Given the description of an element on the screen output the (x, y) to click on. 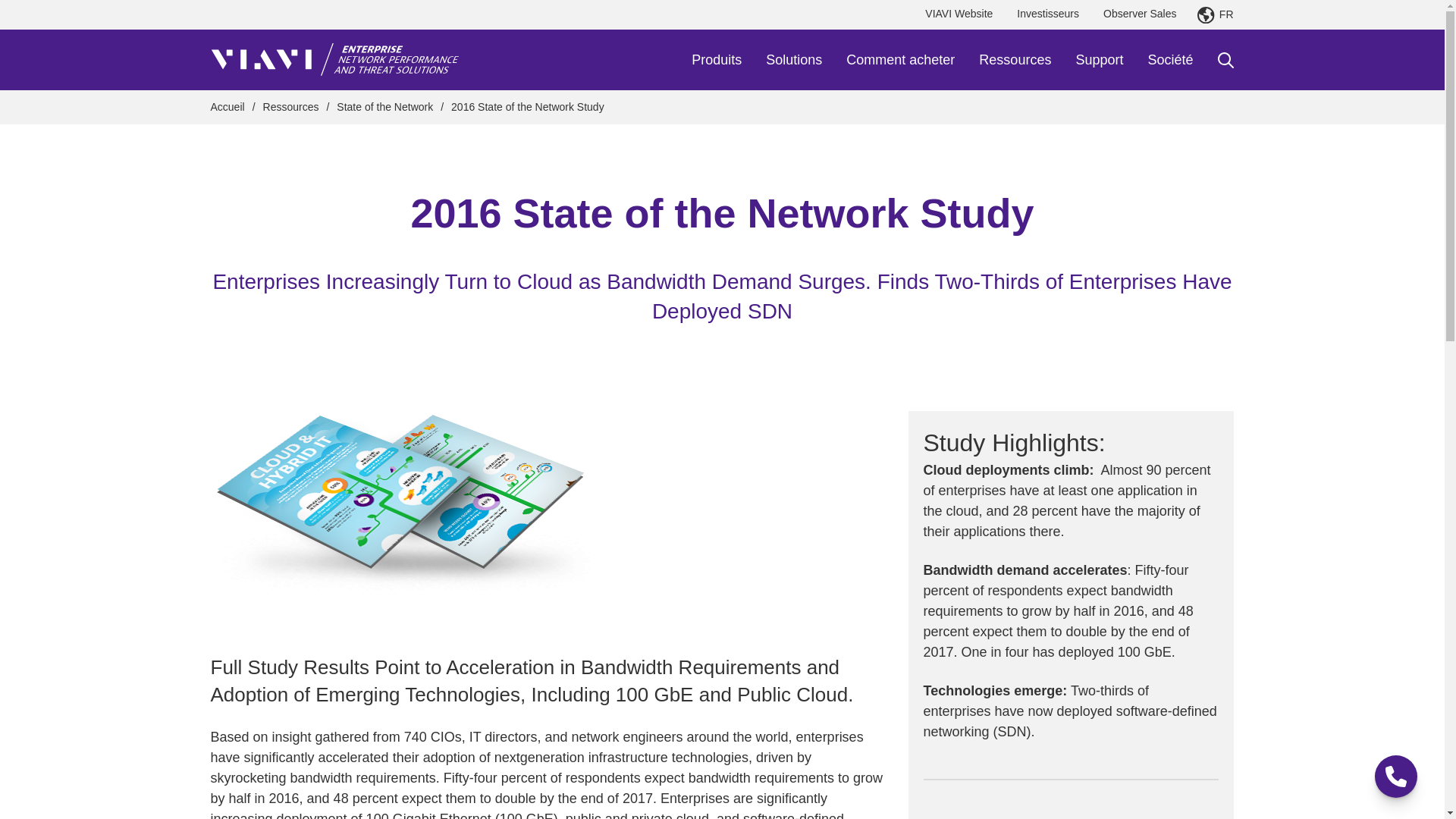
Solutions (793, 60)
FR (1214, 15)
Observer Sales (1139, 14)
Investisseurs (1047, 14)
VIAVI Solutions (337, 59)
VIAVI Website (958, 14)
